Given the description of an element on the screen output the (x, y) to click on. 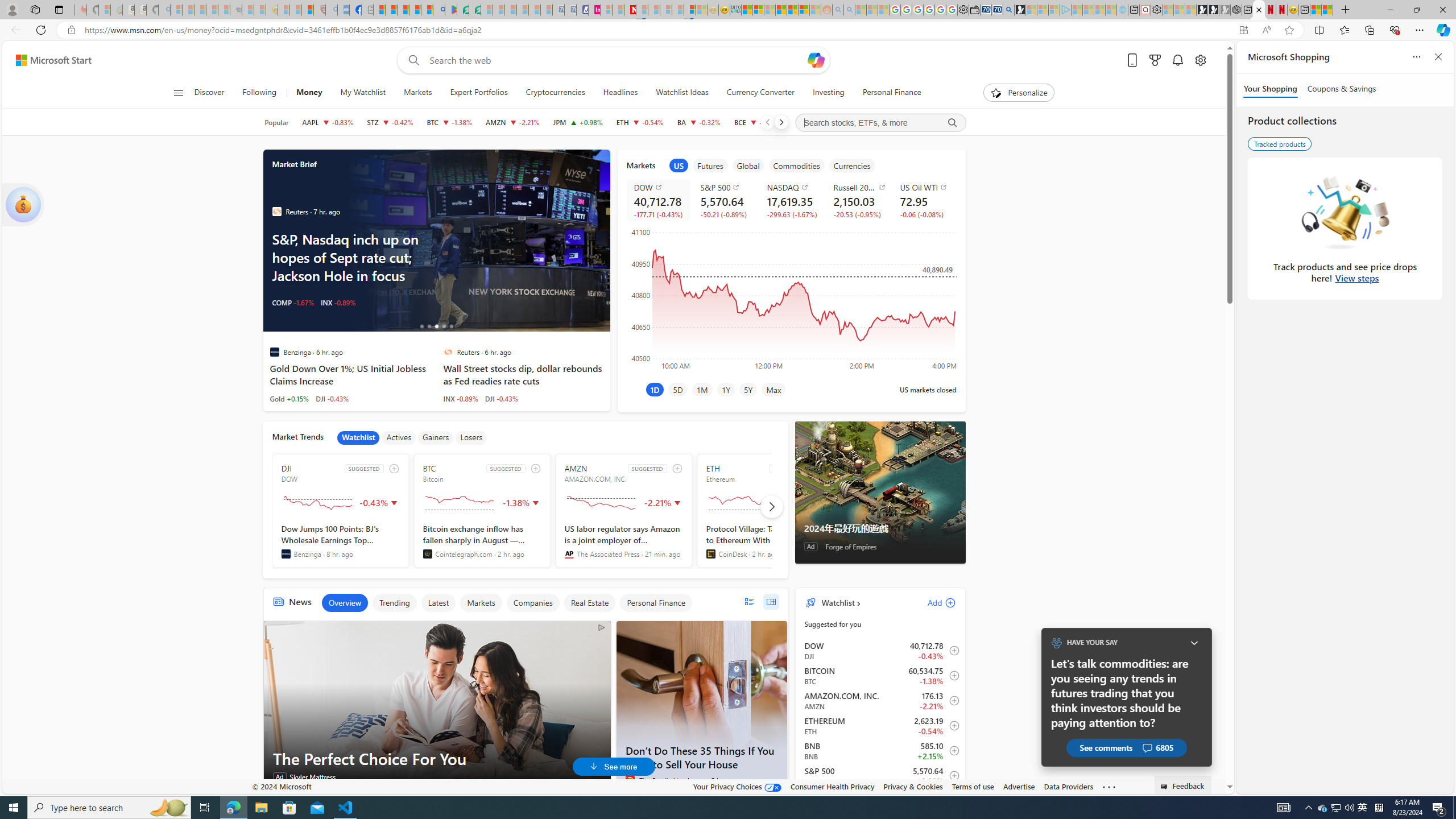
item5 (851, 164)
Benzinga (286, 553)
AdChoices (601, 627)
Bing Real Estate - Home sales and rental listings (1008, 9)
Investing (828, 92)
Cheap Car Rentals - Save70.com (997, 9)
